Given the description of an element on the screen output the (x, y) to click on. 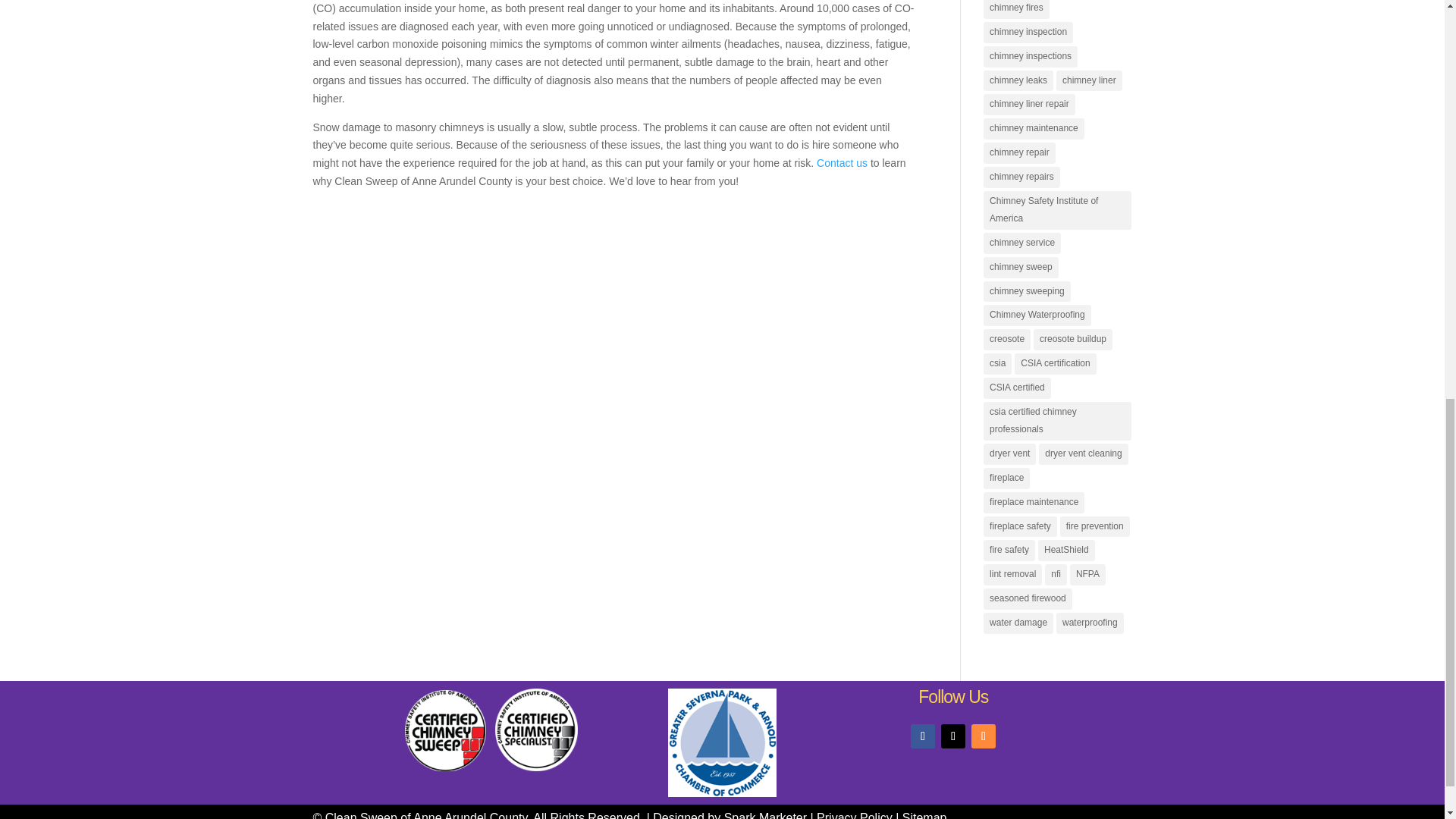
Follow on Facebook (922, 735)
Certified Chimney Specialist (536, 767)
Follow on RSS (983, 735)
Greater Severna Park Arnold Chamber of Commerce (722, 742)
The systems and people to help local service businesses win. (764, 815)
Follow on X (952, 735)
CSIA (445, 767)
